Given the description of an element on the screen output the (x, y) to click on. 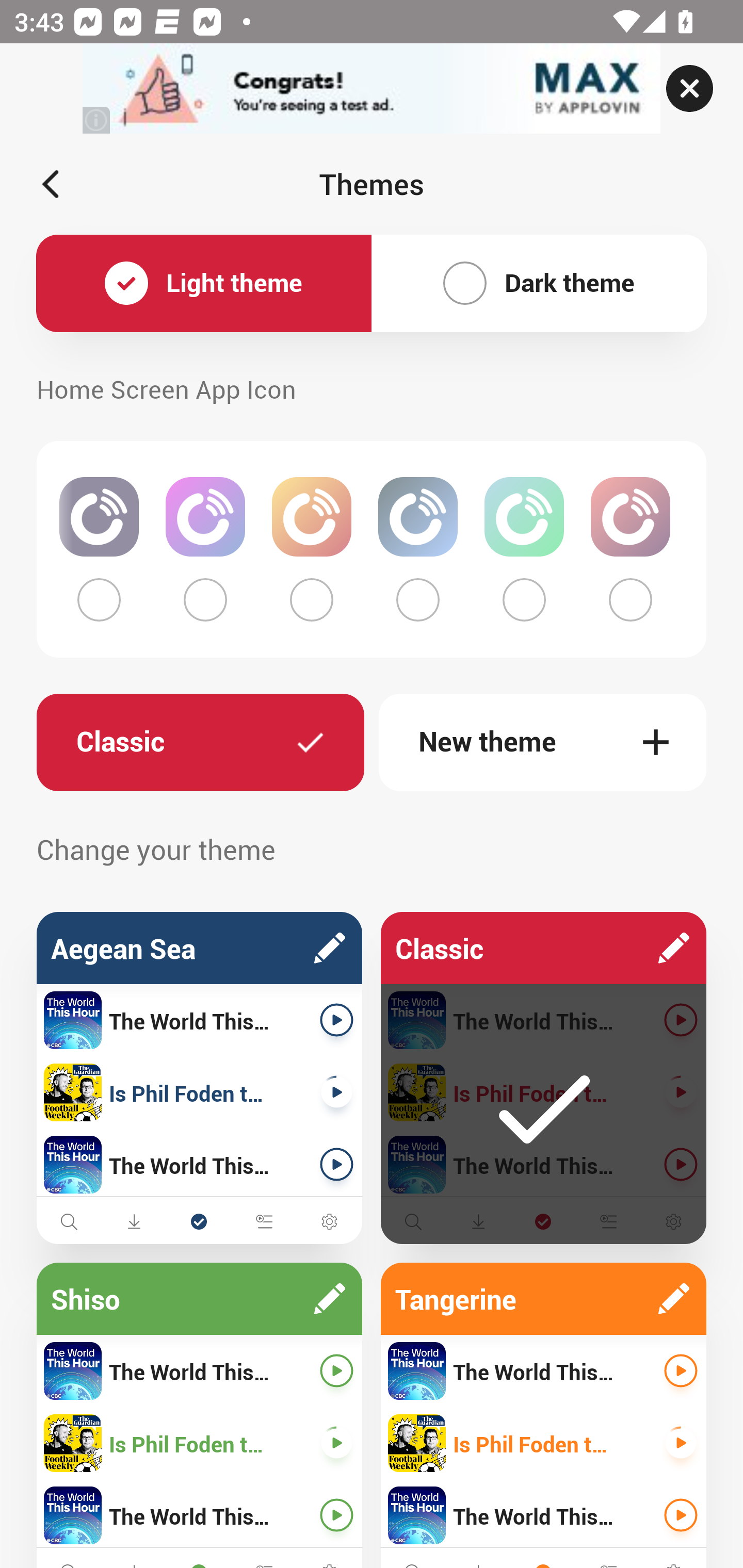
app-monetization (371, 88)
(i) (96, 119)
Navigate up (50, 184)
Light theme (203, 283)
Dark theme (538, 283)
New theme (542, 742)
Play button (336, 1019)
Play button (680, 1019)
Play button (336, 1092)
Play button (680, 1092)
Play button (336, 1164)
Play button (680, 1164)
Discover (68, 1221)
Downloads (133, 1221)
Following (198, 1221)
Playlists (263, 1221)
Settings (329, 1221)
Discover (412, 1221)
Downloads (478, 1221)
Following (543, 1221)
Playlists (607, 1221)
Settings (673, 1221)
Play button (336, 1371)
Play button (680, 1371)
Play button (336, 1443)
Play button (680, 1443)
Play button (336, 1515)
Play button (680, 1515)
